Given the description of an element on the screen output the (x, y) to click on. 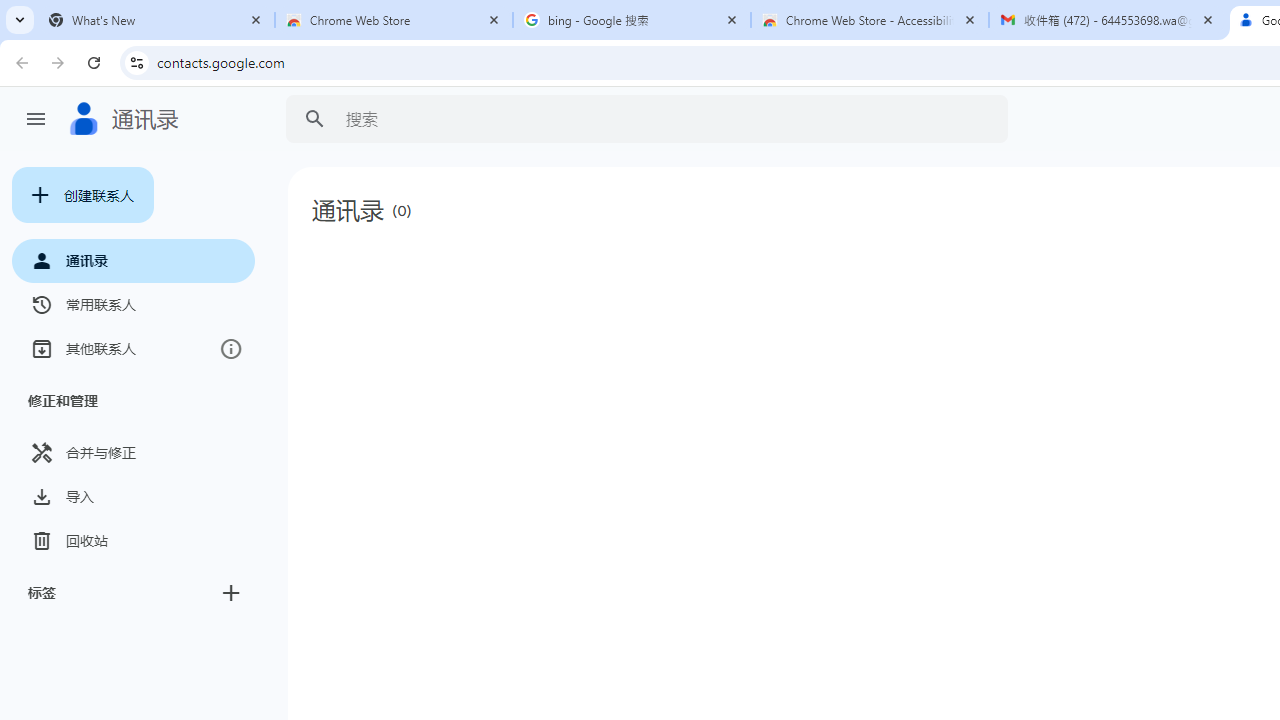
Chrome Web Store - Accessibility (870, 20)
Chrome Web Store (394, 20)
